Given the description of an element on the screen output the (x, y) to click on. 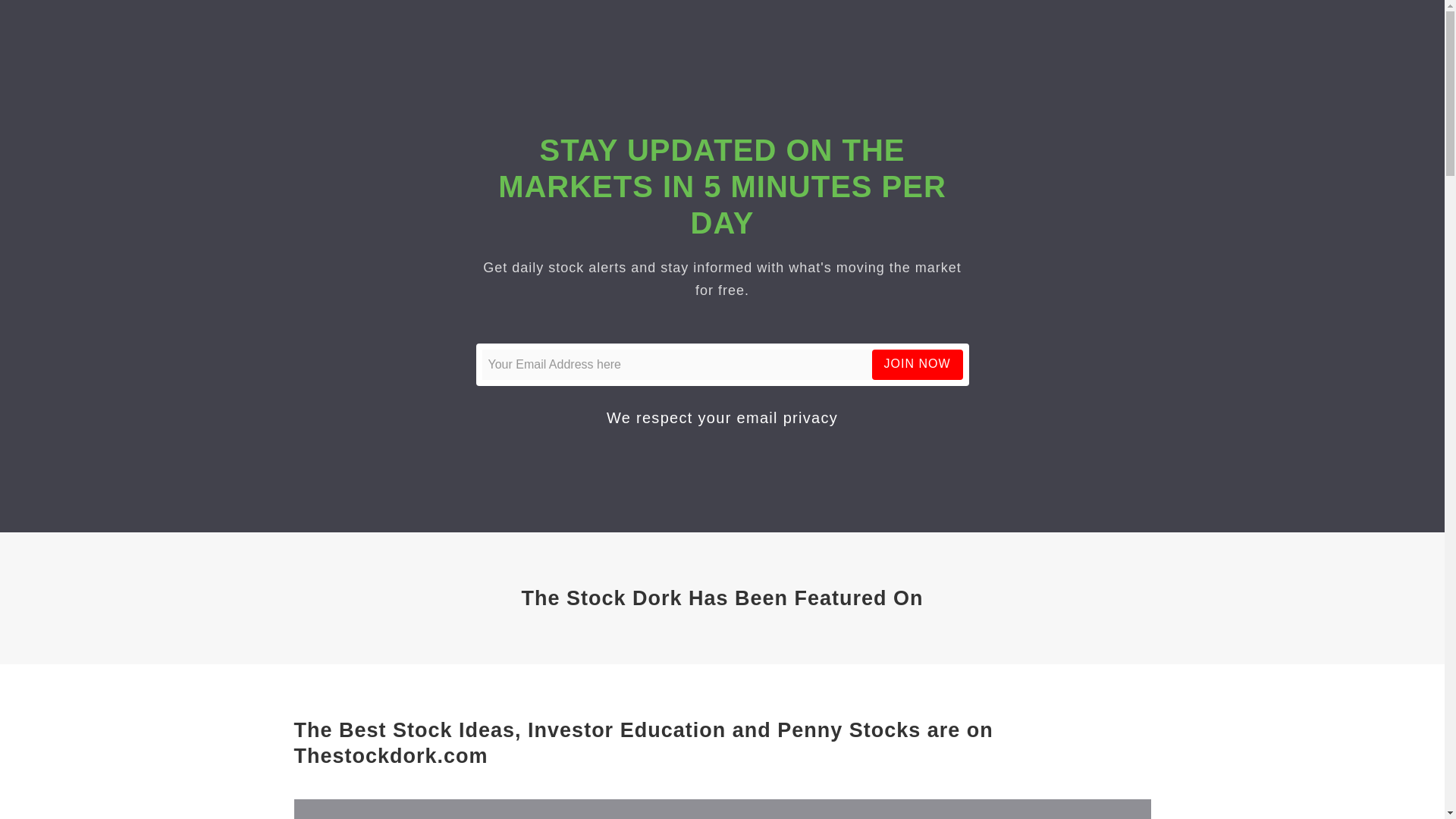
email privacy (787, 417)
Join Now (917, 363)
Join Now (917, 363)
Privacy Policy (787, 417)
